Given the description of an element on the screen output the (x, y) to click on. 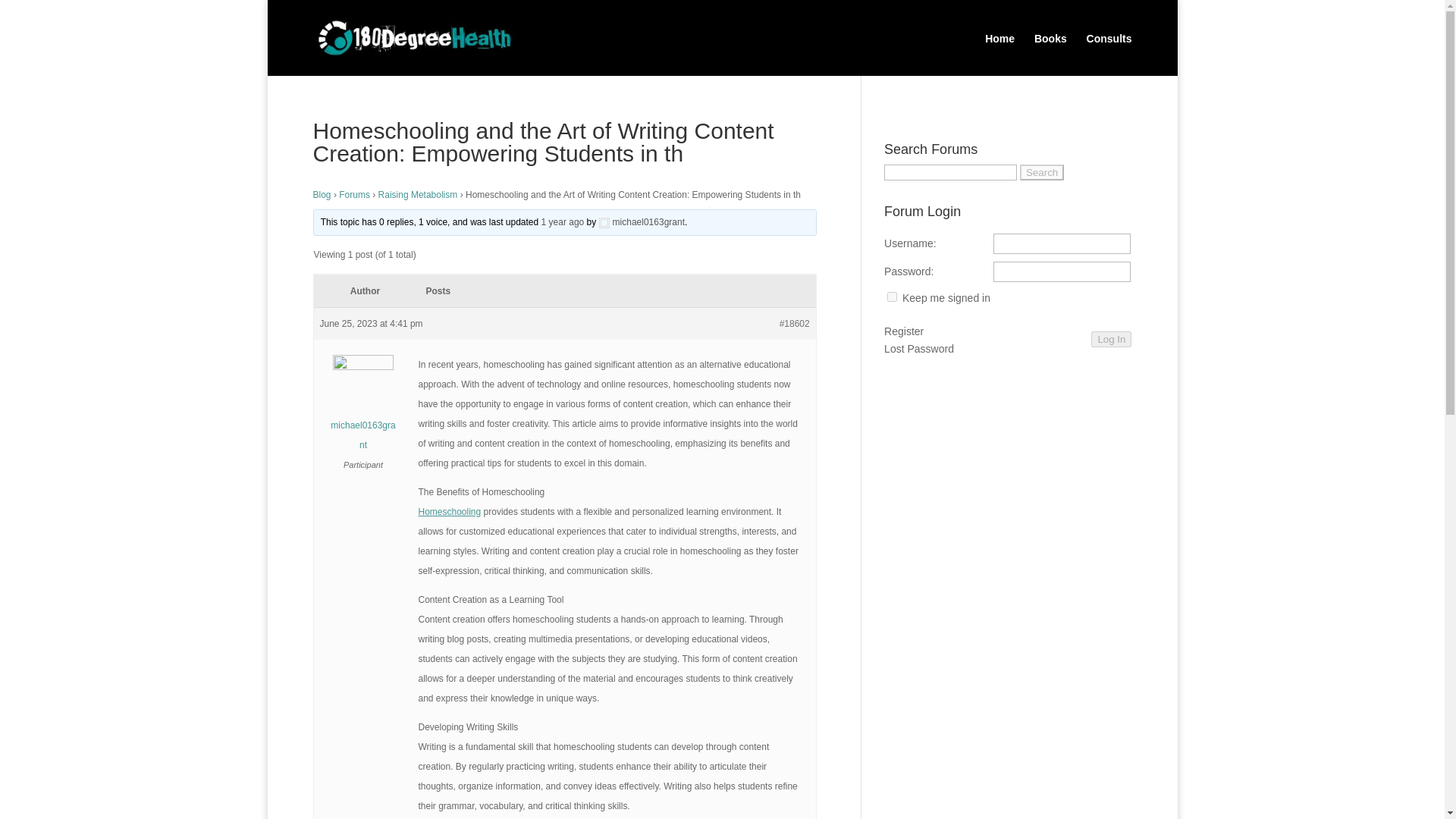
Register (903, 331)
Search (1042, 172)
Books (1050, 49)
Lost Password (918, 349)
Search (1042, 172)
Forums (354, 194)
View michael0163grant's profile (363, 408)
Home (999, 49)
View michael0163grant's profile (641, 222)
1 year ago (563, 222)
Consults (1109, 49)
forever (891, 296)
Raising Metabolism (418, 194)
michael0163grant (363, 408)
